Given the description of an element on the screen output the (x, y) to click on. 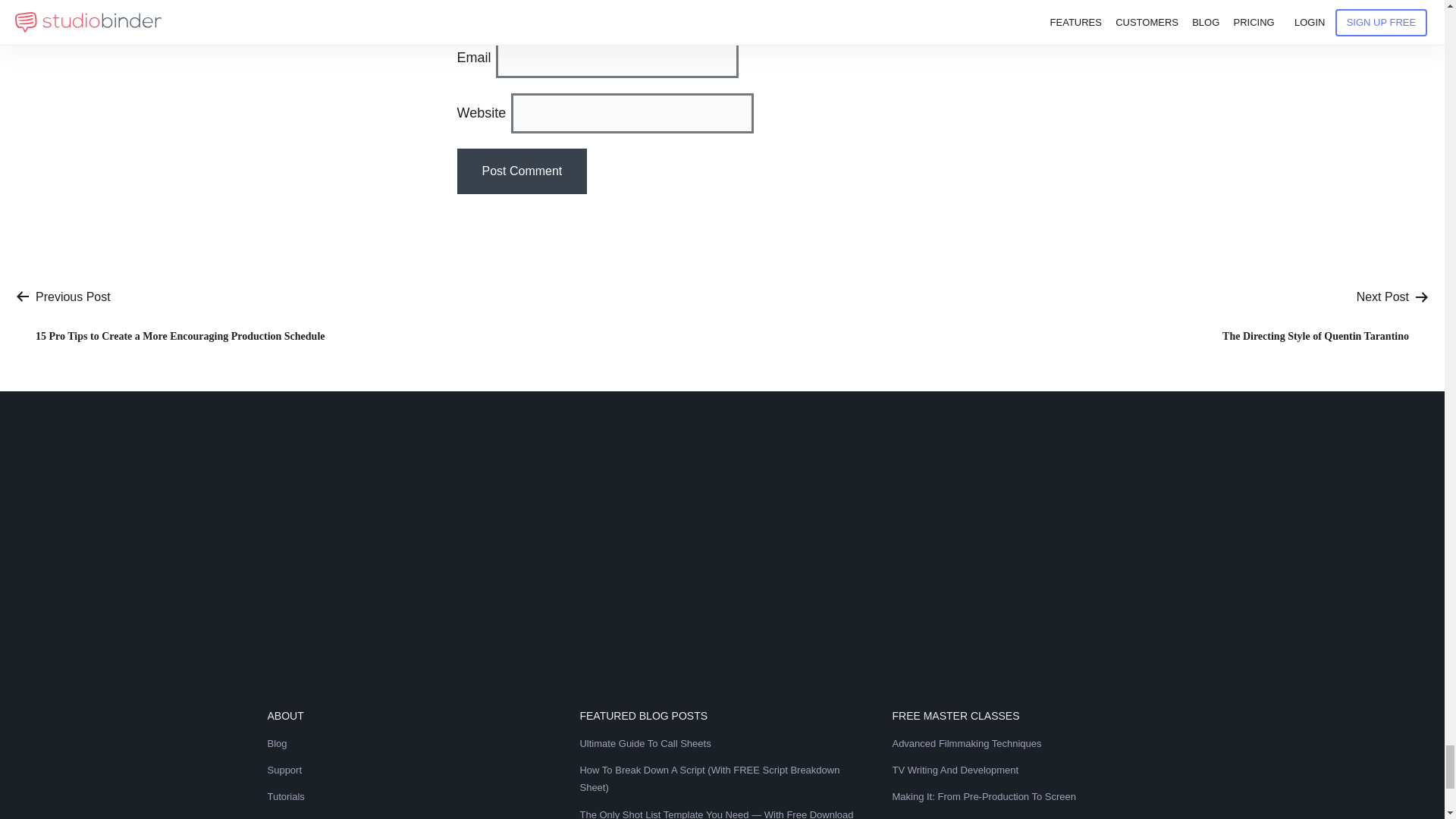
Post Comment (521, 171)
